Given the description of an element on the screen output the (x, y) to click on. 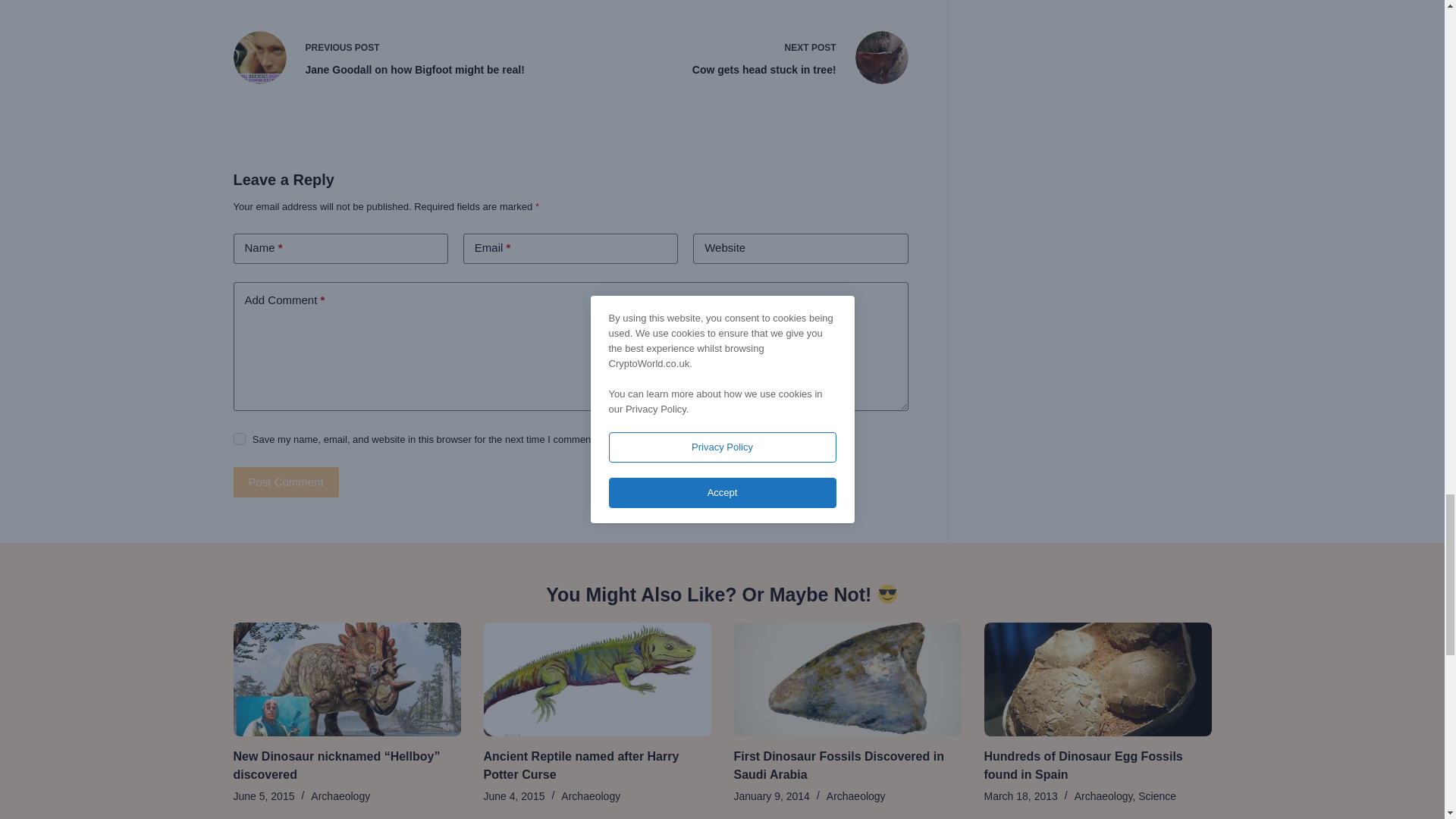
yes (239, 439)
